Given the description of an element on the screen output the (x, y) to click on. 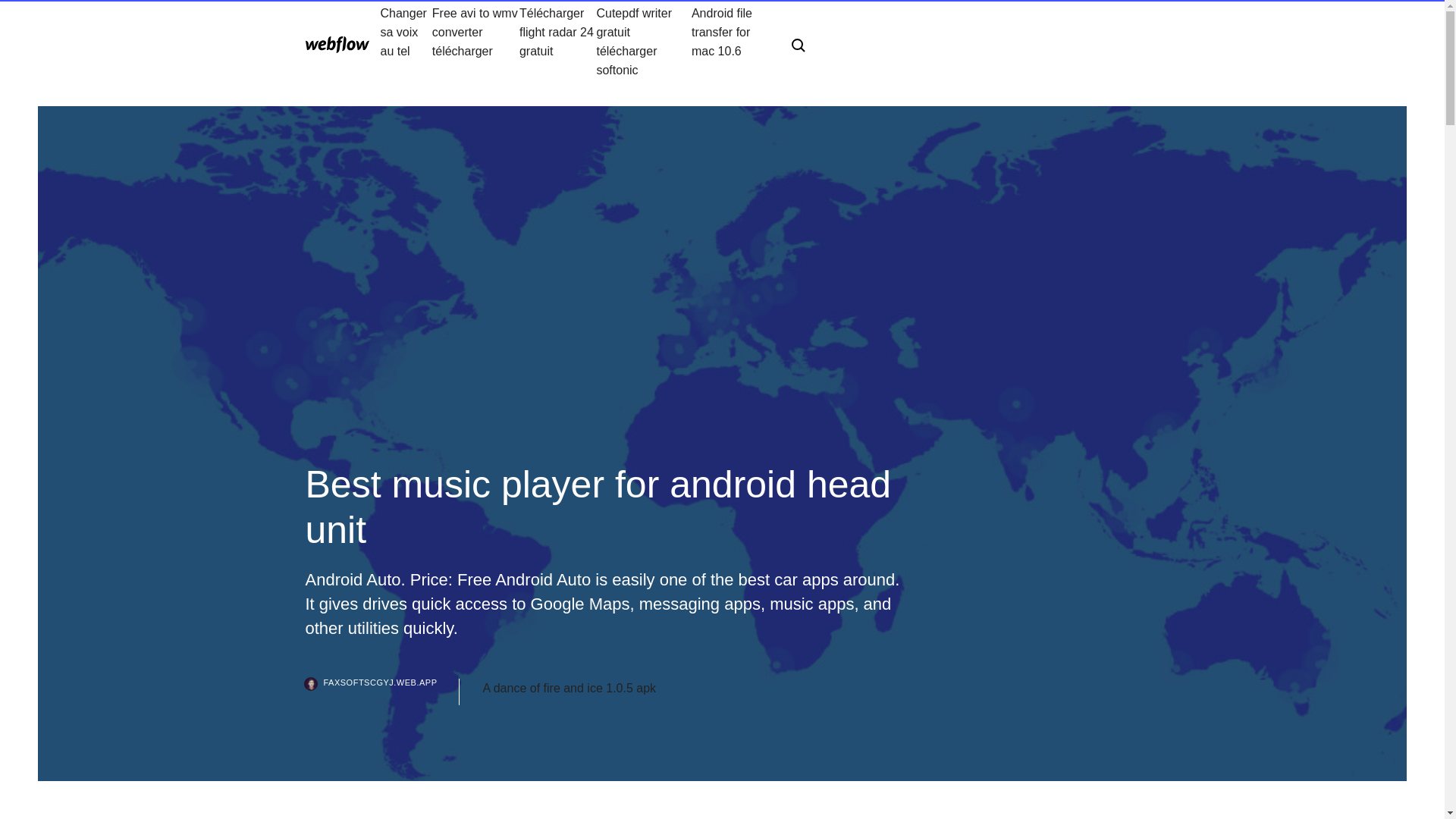
Changer sa voix au tel (406, 41)
Android file transfer for mac 10.6 (729, 41)
A dance of fire and ice 1.0.5 apk (568, 687)
FAXSOFTSCGYJ.WEB.APP (382, 691)
